Given the description of an element on the screen output the (x, y) to click on. 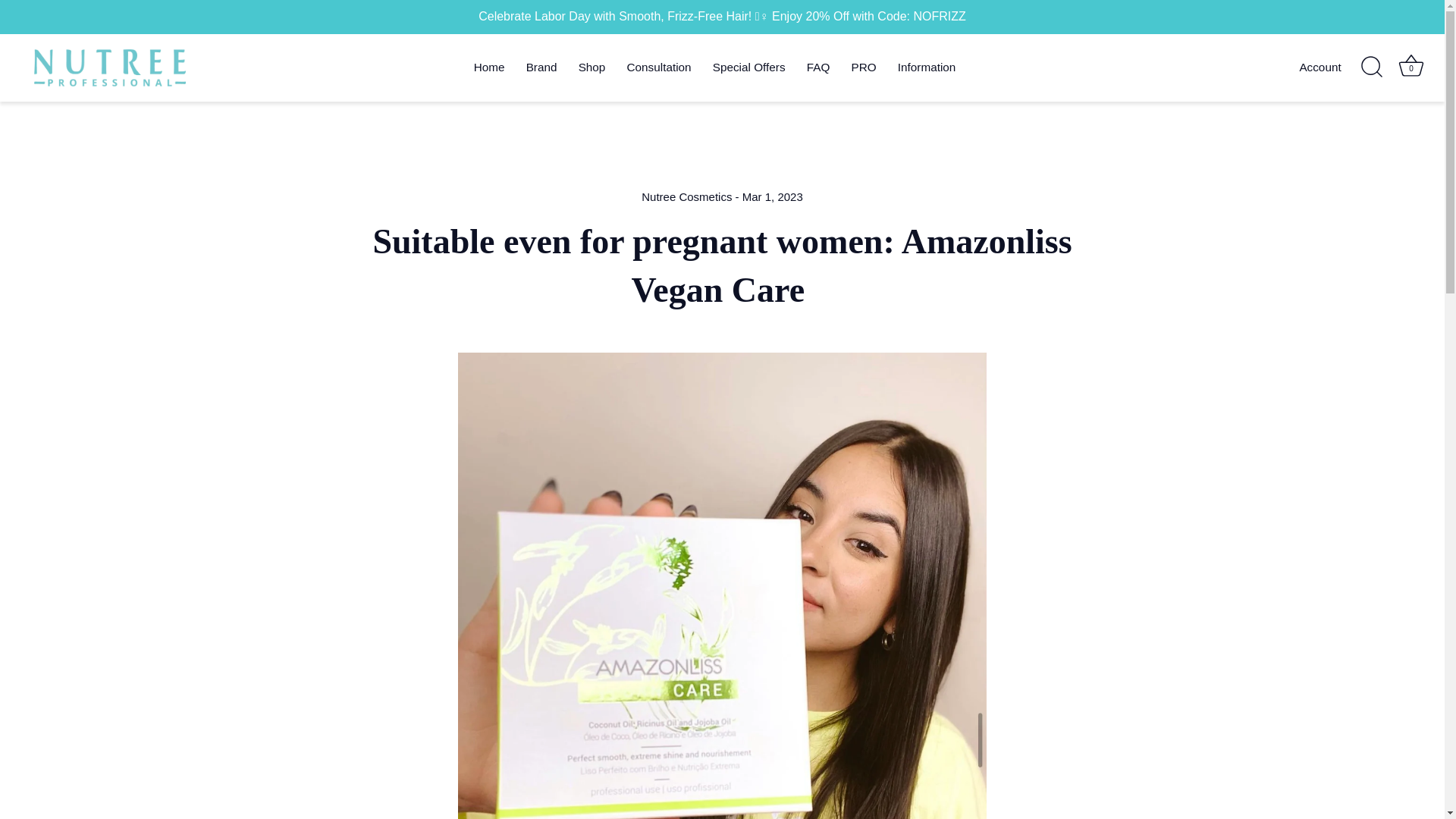
Information (926, 68)
Consultation (658, 68)
FAQ (818, 68)
Special Offers (748, 68)
Brand (541, 68)
Home (488, 68)
Basket (1410, 65)
PRO (863, 68)
Shop (591, 68)
